Given the description of an element on the screen output the (x, y) to click on. 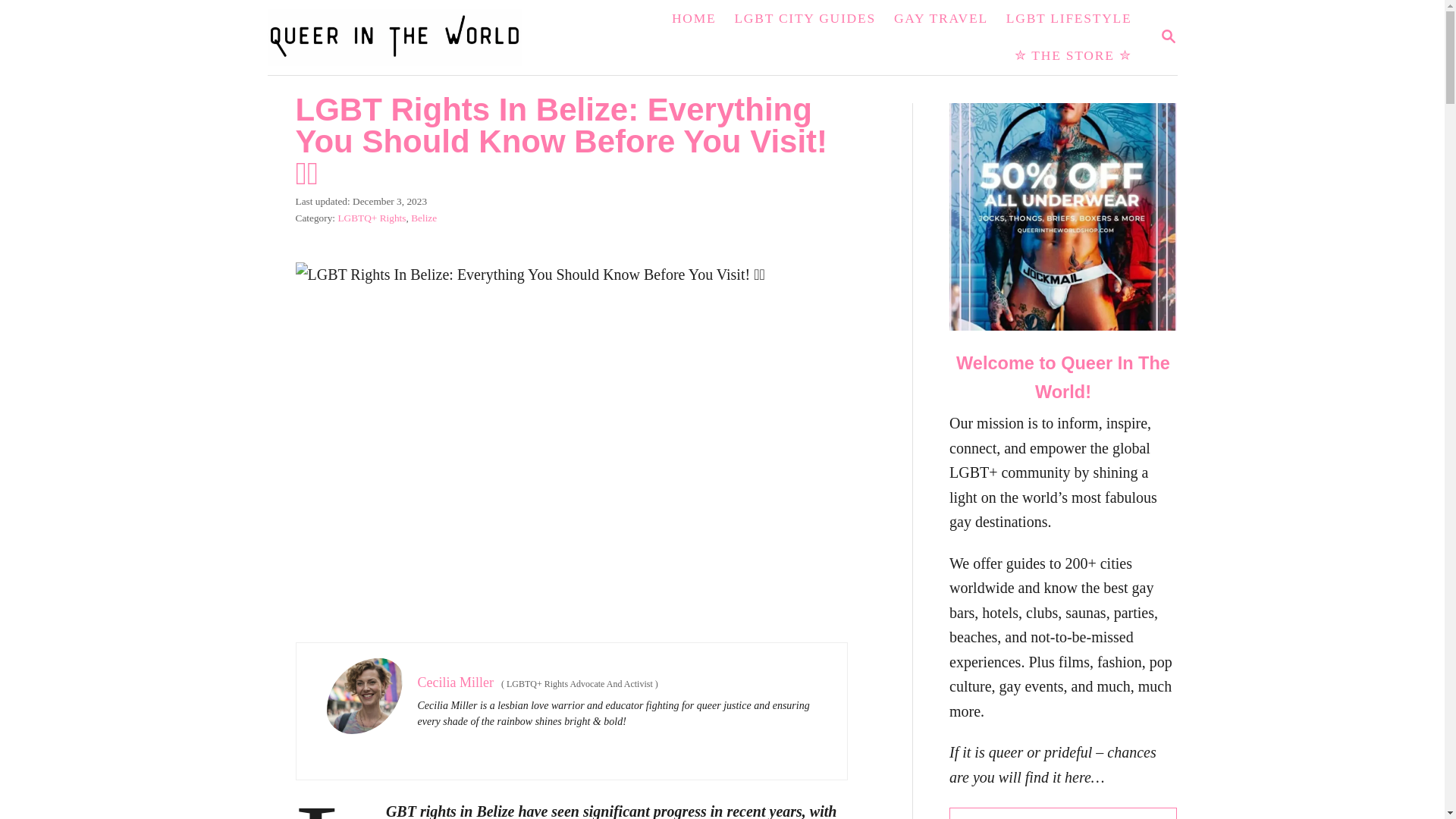
LGBT CITY GUIDES (804, 18)
HOME (1167, 37)
Queer In The World (693, 18)
Search for: (403, 37)
MAGNIFYING GLASS (1062, 813)
